Given the description of an element on the screen output the (x, y) to click on. 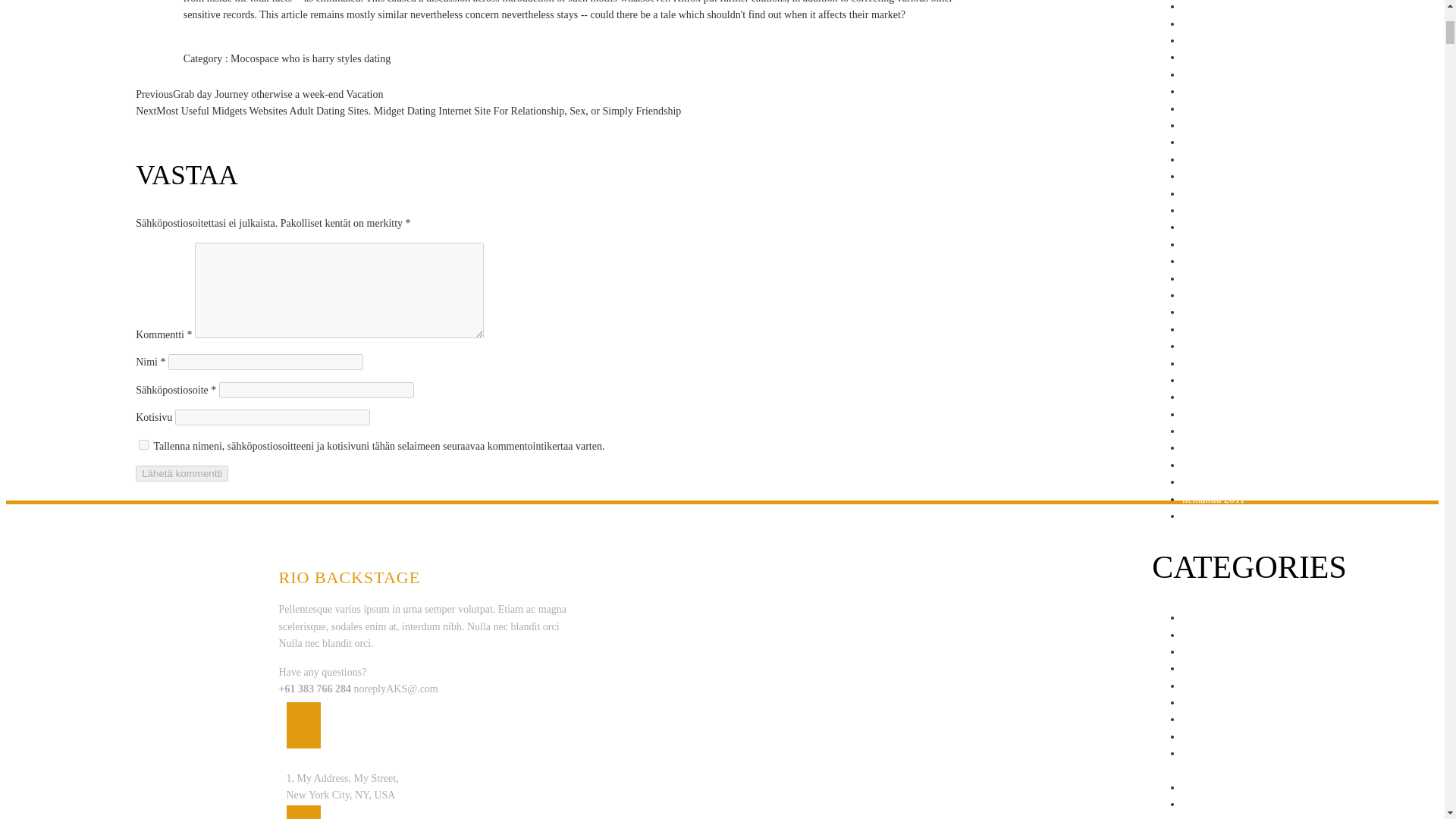
Mocospace who is harry styles dating (310, 58)
yes (143, 444)
PreviousGrab day Journey otherwise a week-end Vacation (258, 93)
